Given the description of an element on the screen output the (x, y) to click on. 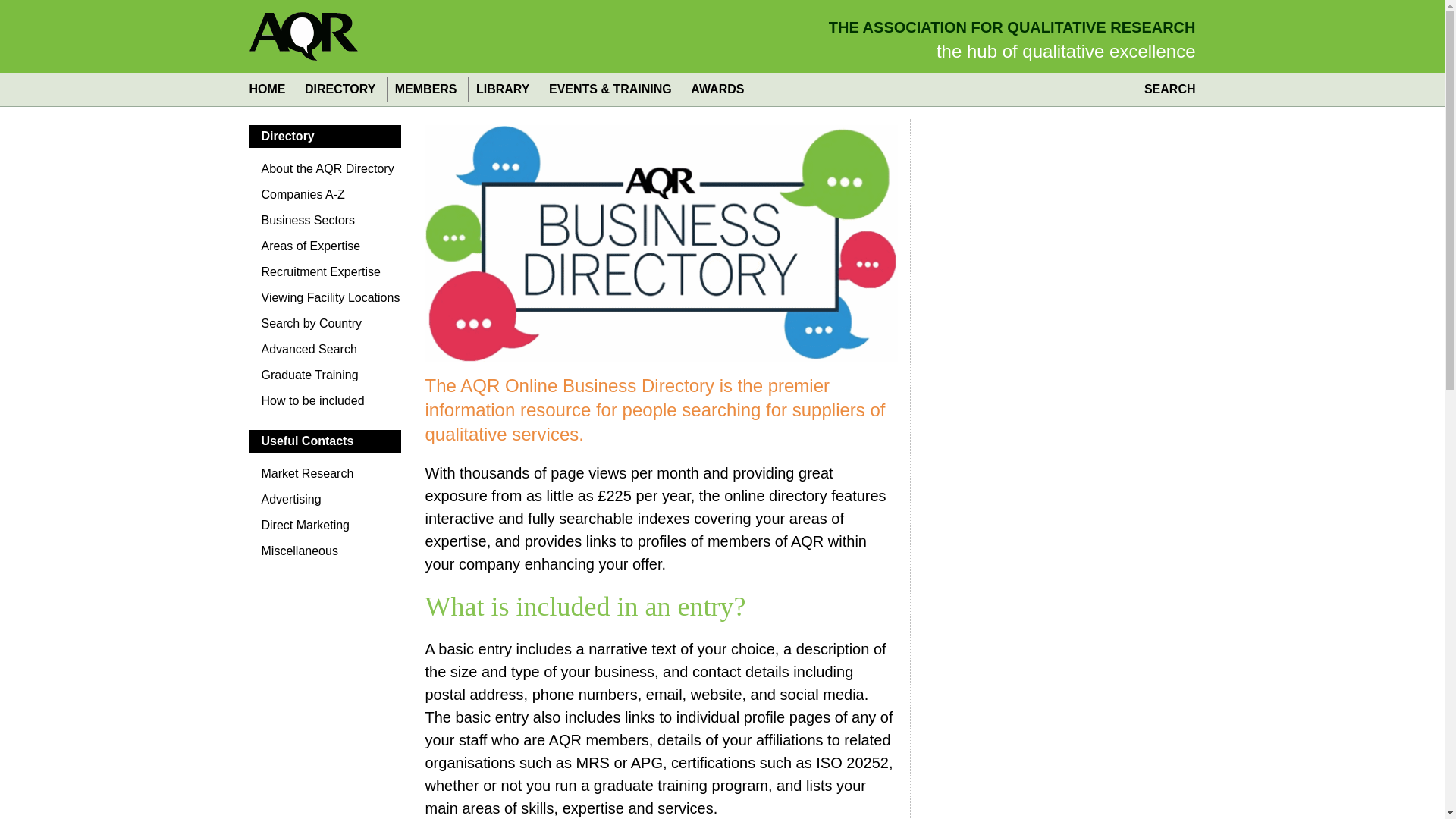
About the AQR Directory (324, 172)
Direct Marketing (324, 529)
LIBRARY (502, 88)
SEARCH (1166, 88)
Market Research (324, 477)
Miscellaneous (324, 555)
Companies A-Z (324, 198)
HOME (270, 88)
MEMBERS (425, 88)
Areas of Expertise (324, 249)
Search by Country (324, 327)
Graduate Training (324, 379)
AWARDS (716, 88)
Recruitment Expertise (324, 275)
Viewing Facility Locations (324, 301)
